Given the description of an element on the screen output the (x, y) to click on. 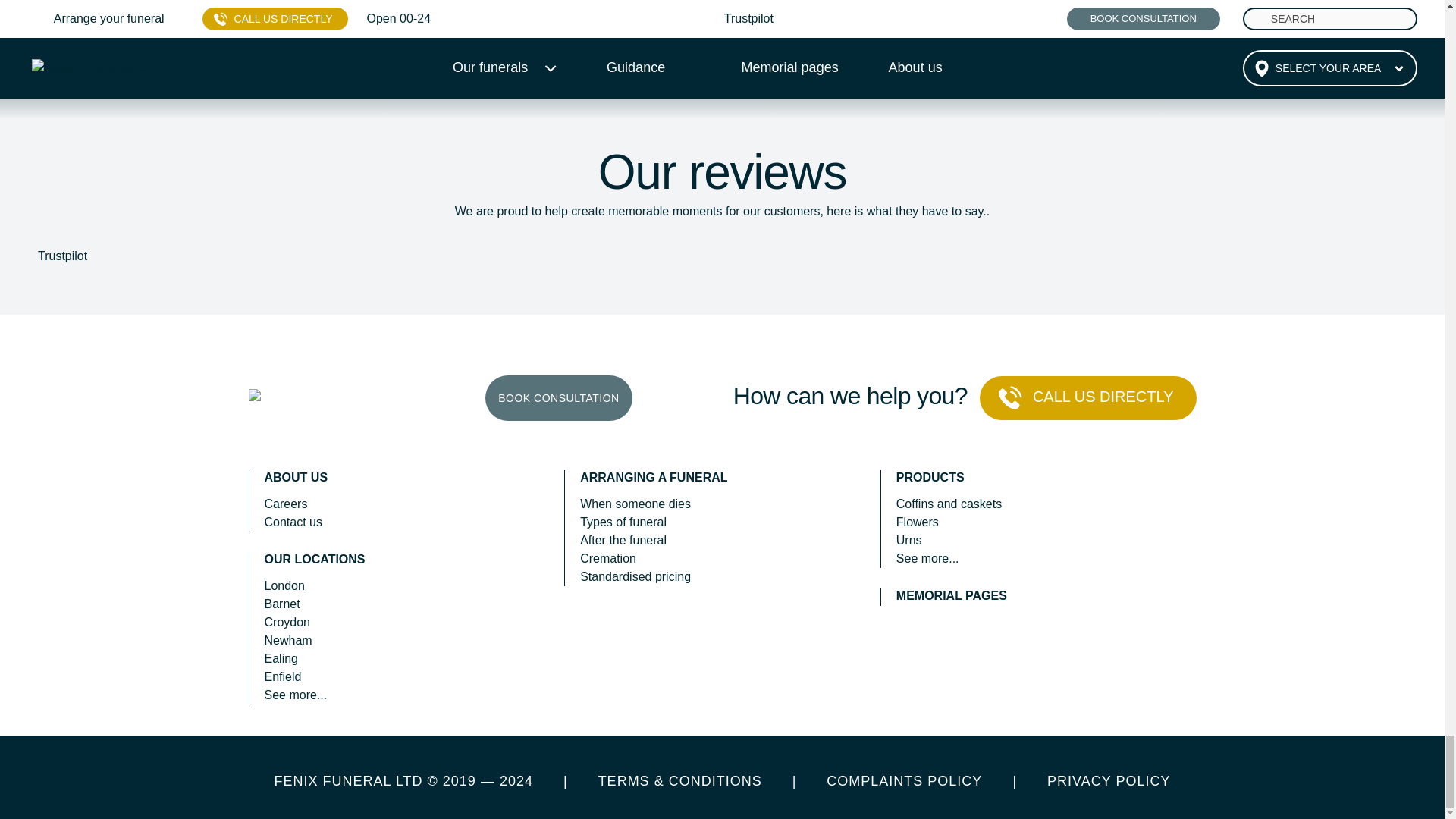
Book consultation (557, 397)
